Given the description of an element on the screen output the (x, y) to click on. 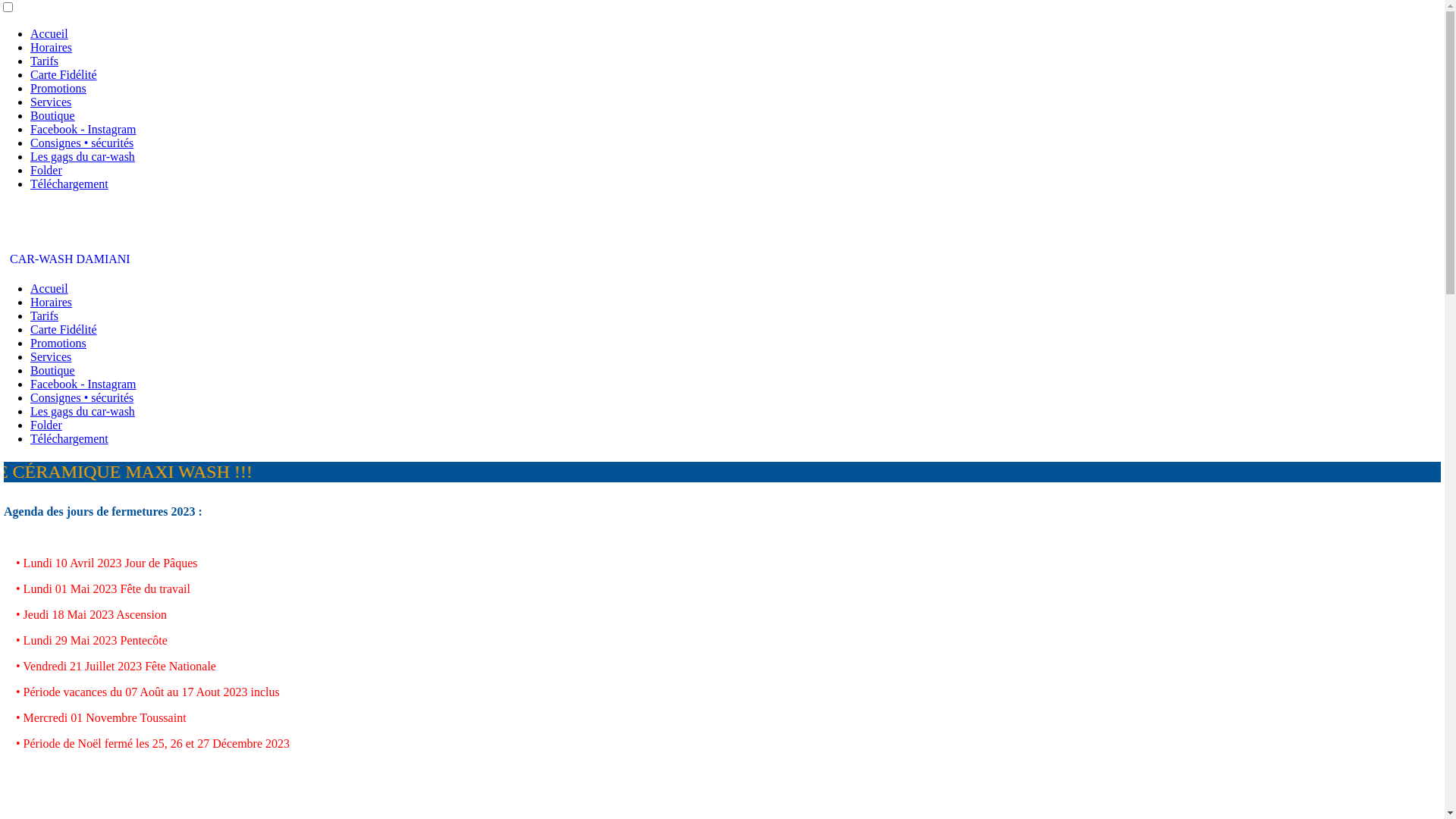
Accueil Element type: text (49, 288)
Folder Element type: text (46, 424)
Services Element type: text (50, 356)
Promotions Element type: text (58, 87)
Tarifs Element type: text (44, 60)
Folder Element type: text (46, 169)
Promotions Element type: text (58, 342)
Boutique Element type: text (52, 115)
Les gags du car-wash Element type: text (82, 410)
Facebook - Instagram Element type: text (83, 383)
Services Element type: text (50, 101)
Horaires Element type: text (51, 46)
Horaires Element type: text (51, 301)
Accueil Element type: text (49, 33)
Boutique Element type: text (52, 370)
Tarifs Element type: text (44, 315)
Facebook - Instagram Element type: text (83, 128)
Les gags du car-wash Element type: text (82, 156)
  CAR-WASH DAMIANI Element type: text (66, 258)
